Given the description of an element on the screen output the (x, y) to click on. 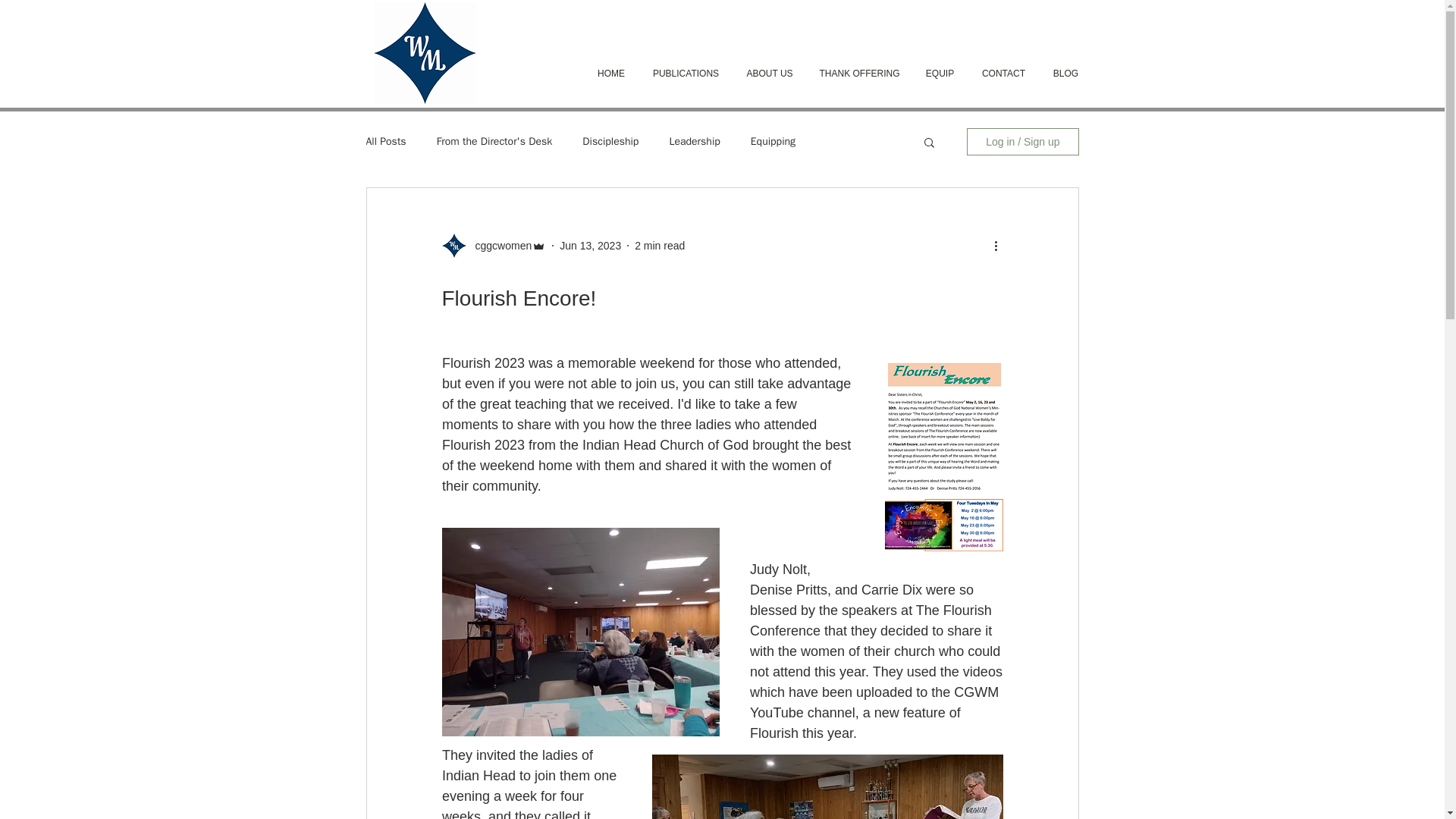
THANK OFFERING (858, 73)
Jun 13, 2023 (590, 245)
From the Director's Desk (494, 141)
All Posts (385, 141)
BLOG (1065, 73)
Leadership (693, 141)
Equipping (772, 141)
cggcwomen (498, 245)
Discipleship (610, 141)
ABOUT US (770, 73)
PUBLICATIONS (686, 73)
HOME (610, 73)
2 min read (659, 245)
CONTACT (1003, 73)
EQUIP (939, 73)
